Given the description of an element on the screen output the (x, y) to click on. 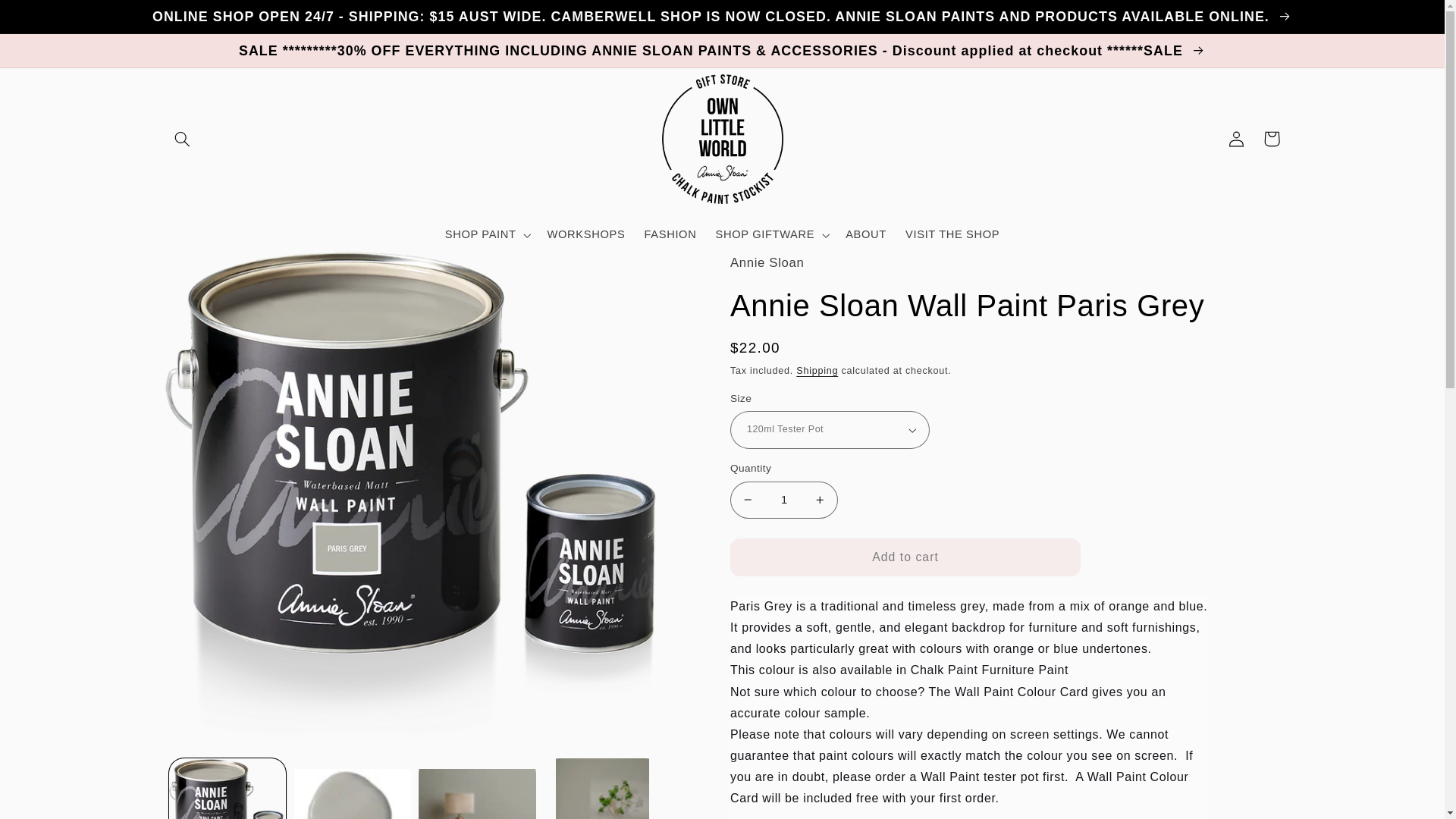
1 (784, 499)
Skip to content (48, 18)
WORKSHOPS (585, 234)
